Given the description of an element on the screen output the (x, y) to click on. 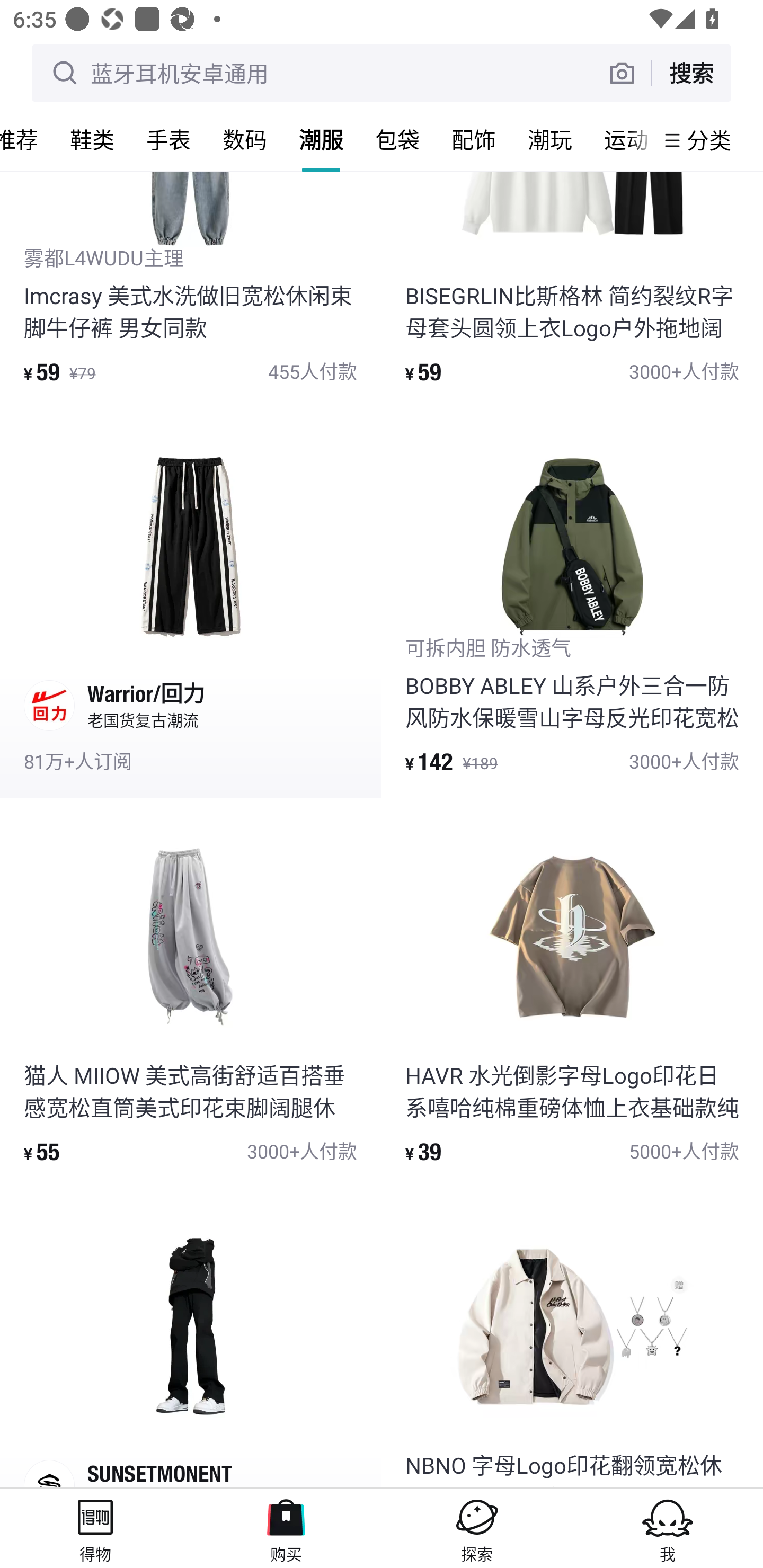
搜索 (690, 72)
推荐 (27, 139)
鞋类 (92, 139)
手表 (168, 139)
数码 (244, 139)
潮服 (321, 139)
包袋 (397, 139)
配饰 (473, 139)
潮玩 (549, 139)
运动 (621, 139)
分类 (708, 139)
Warrior/回力 老国货复古潮流 81万+人订阅 (190, 602)
SUNSETMONENT (190, 1338)
product_item NBNO 字母Logo印花翻领宽松休
闲教练夹克 男女同款 (572, 1338)
得物 (95, 1528)
购买 (285, 1528)
探索 (476, 1528)
我 (667, 1528)
